Given the description of an element on the screen output the (x, y) to click on. 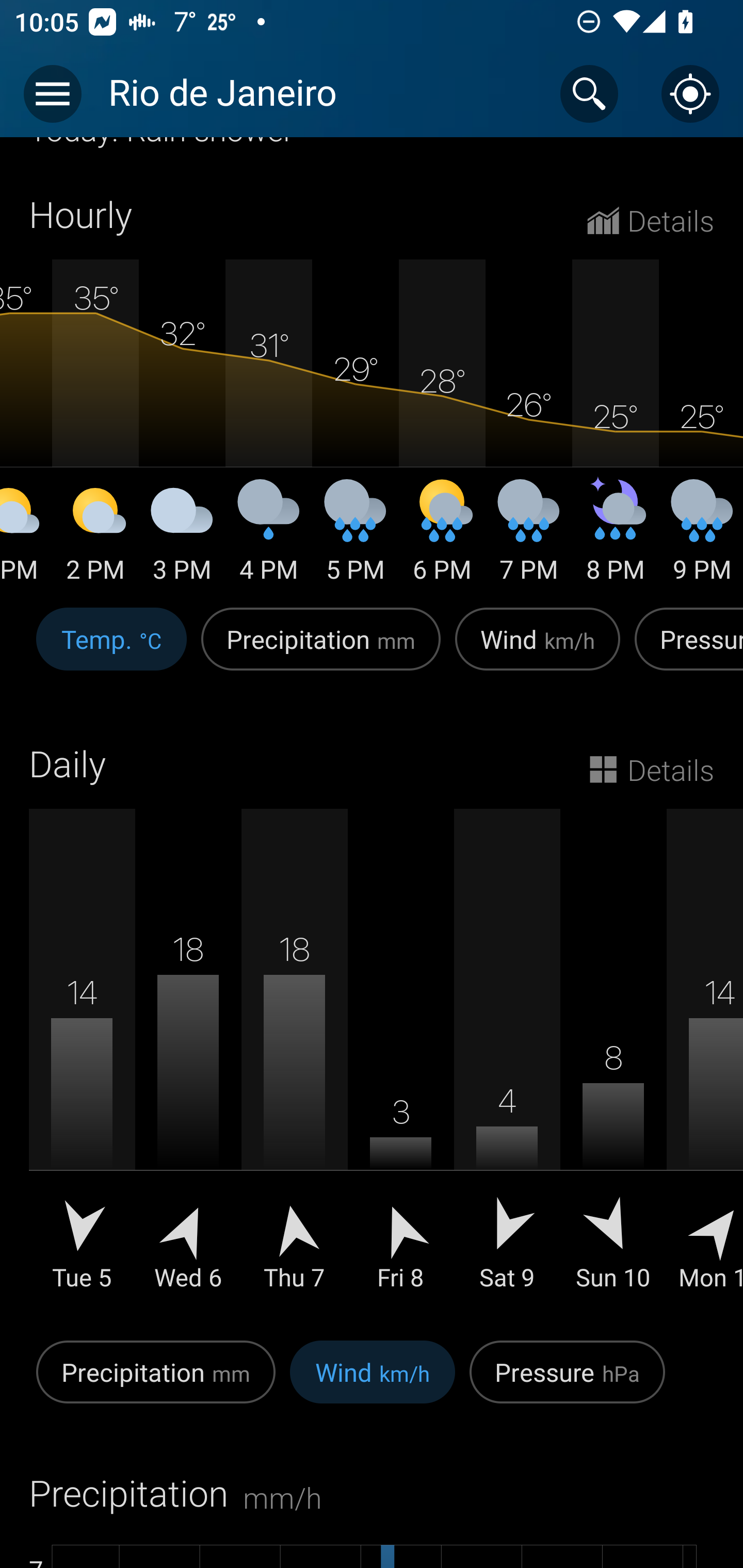
1 PM (26, 538)
2 PM (95, 538)
3 PM (181, 538)
4 PM (268, 538)
5 PM (355, 538)
6 PM (441, 538)
7 PM (528, 538)
8 PM (615, 538)
9 PM (701, 538)
Temp. °C (110, 649)
Precipitation mm (320, 649)
Wind km/h (537, 649)
Pressure (685, 649)
14  Tue 5 (81, 1063)
18  Wed 6 (188, 1063)
18  Thu 7 (294, 1063)
3  Fri 8 (400, 1063)
4  Sat 9 (506, 1063)
8  Sun 10 (613, 1063)
14  Mon 11 (704, 1063)
Precipitation mm (155, 1381)
Wind km/h (372, 1381)
Pressure hPa (567, 1381)
